Given the description of an element on the screen output the (x, y) to click on. 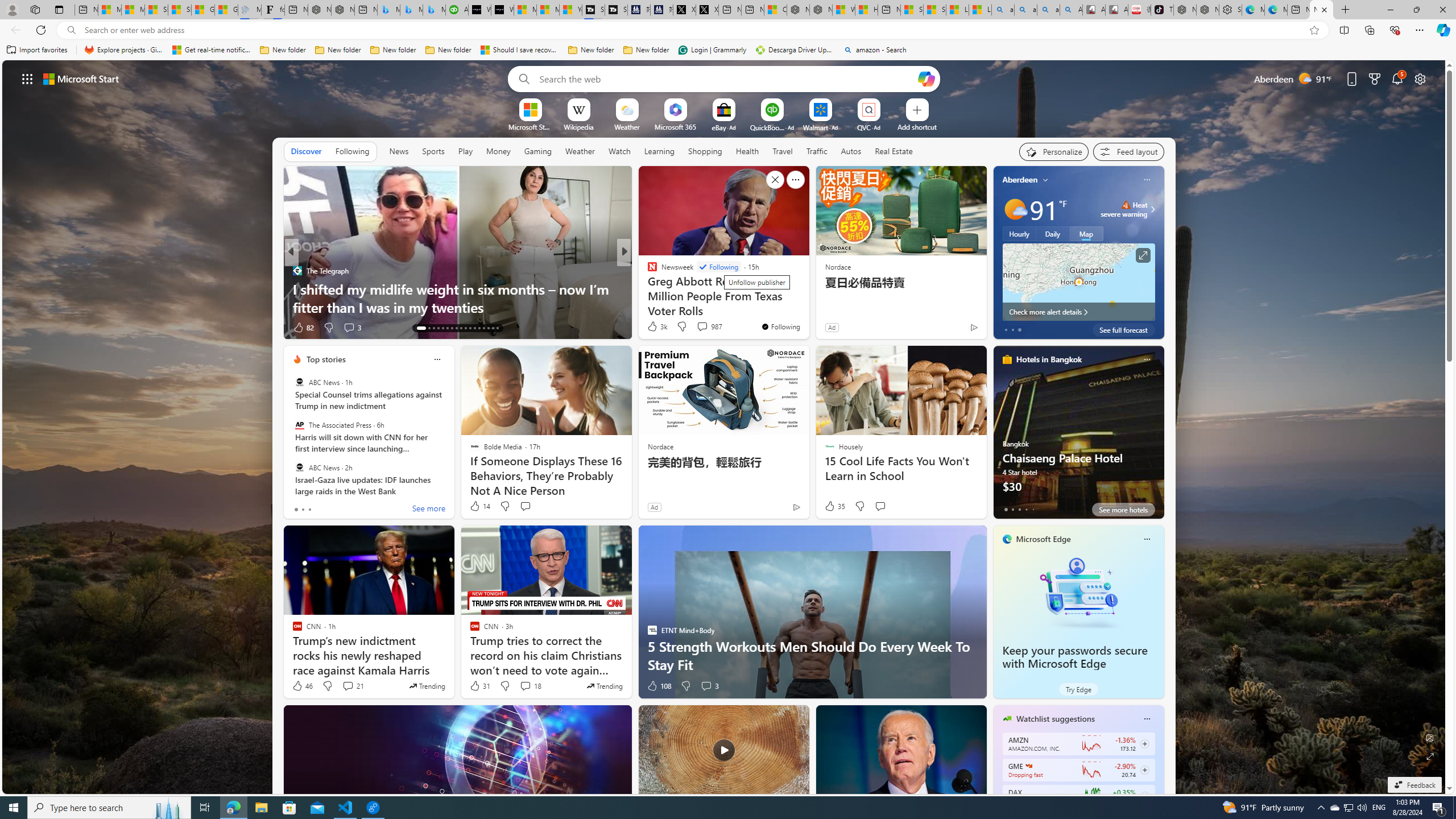
AutomationID: tab-25 (478, 328)
Shopping (705, 151)
View comments 3 Comment (705, 685)
241 Like (654, 327)
Nordace Siena Pro 15 Backpack (1207, 9)
View comments 987 Comment (708, 326)
View comments 987 Comment (701, 326)
